Given the description of an element on the screen output the (x, y) to click on. 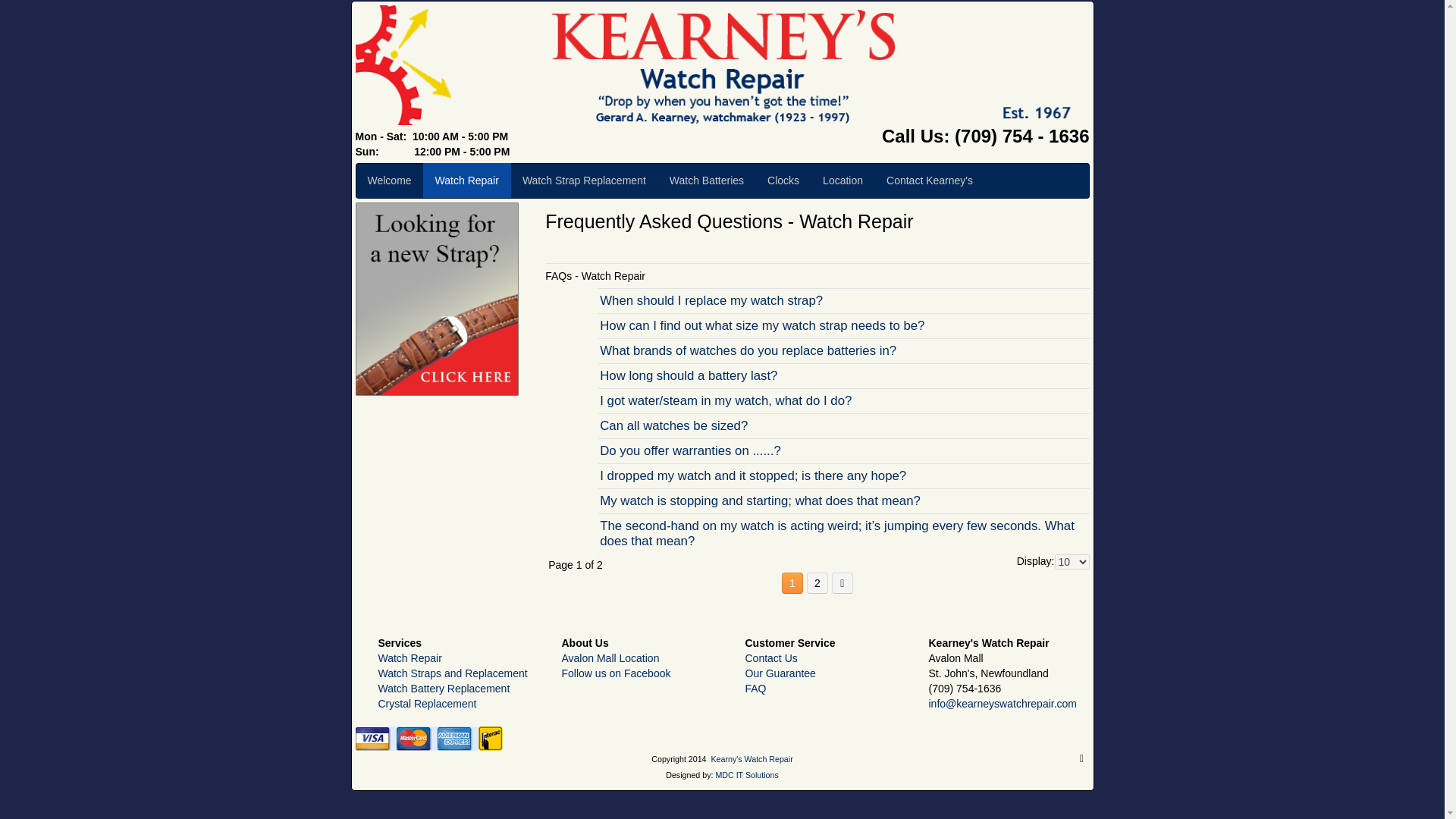
Watch Repair (409, 657)
Watch Batteries (706, 180)
My watch is stopping and starting; what does that mean? (843, 500)
Our Guarantee (779, 673)
Welcome (389, 180)
2 (817, 582)
Can all watches be sized? (843, 426)
Contact Kearney's (930, 180)
Do you offer warranties on ......? (843, 450)
Watch Repair (467, 180)
